Given the description of an element on the screen output the (x, y) to click on. 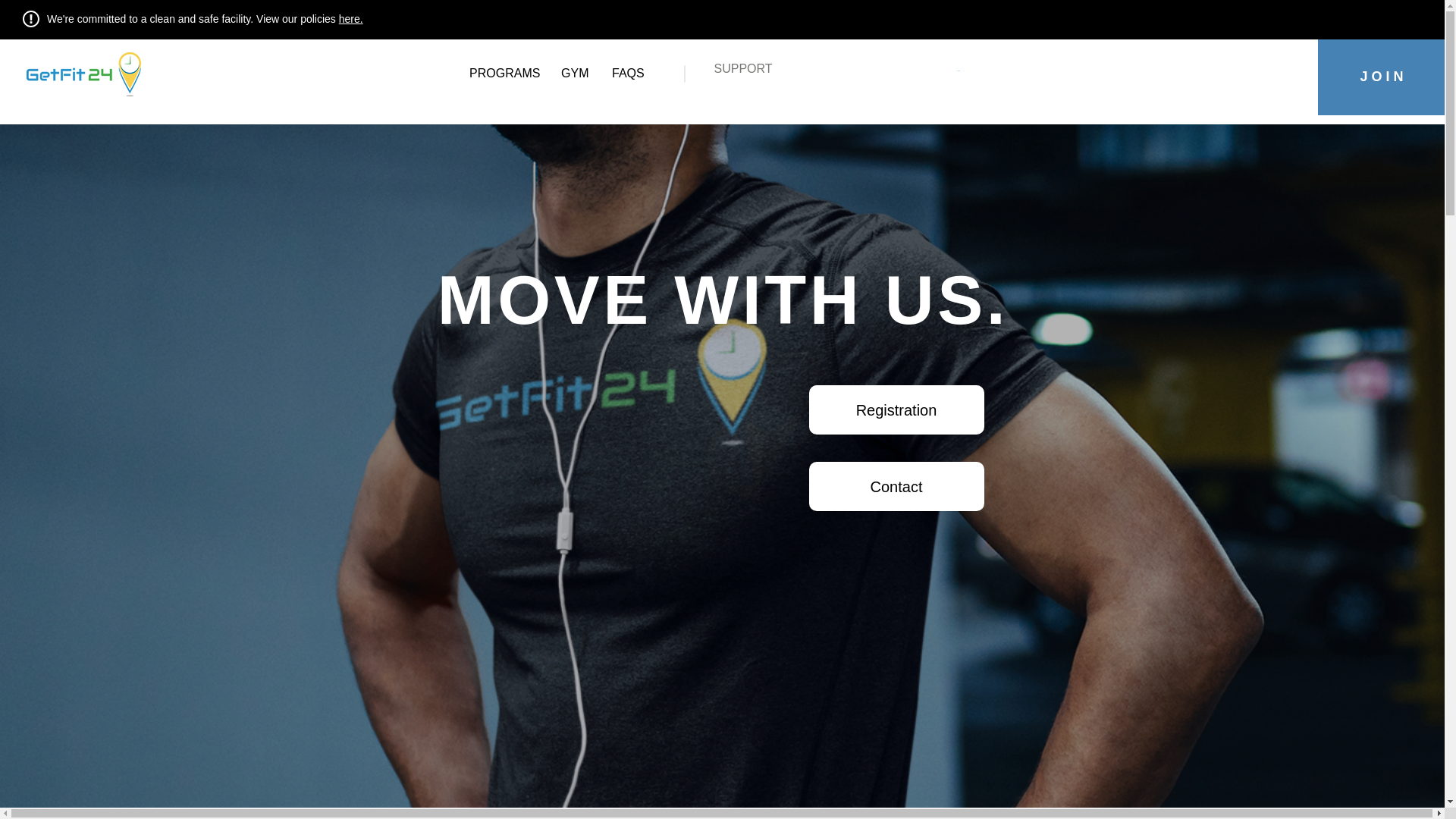
GYM (574, 73)
FAQS (627, 73)
SUPPORT (743, 68)
Contact (896, 486)
Registration (896, 409)
